Given the description of an element on the screen output the (x, y) to click on. 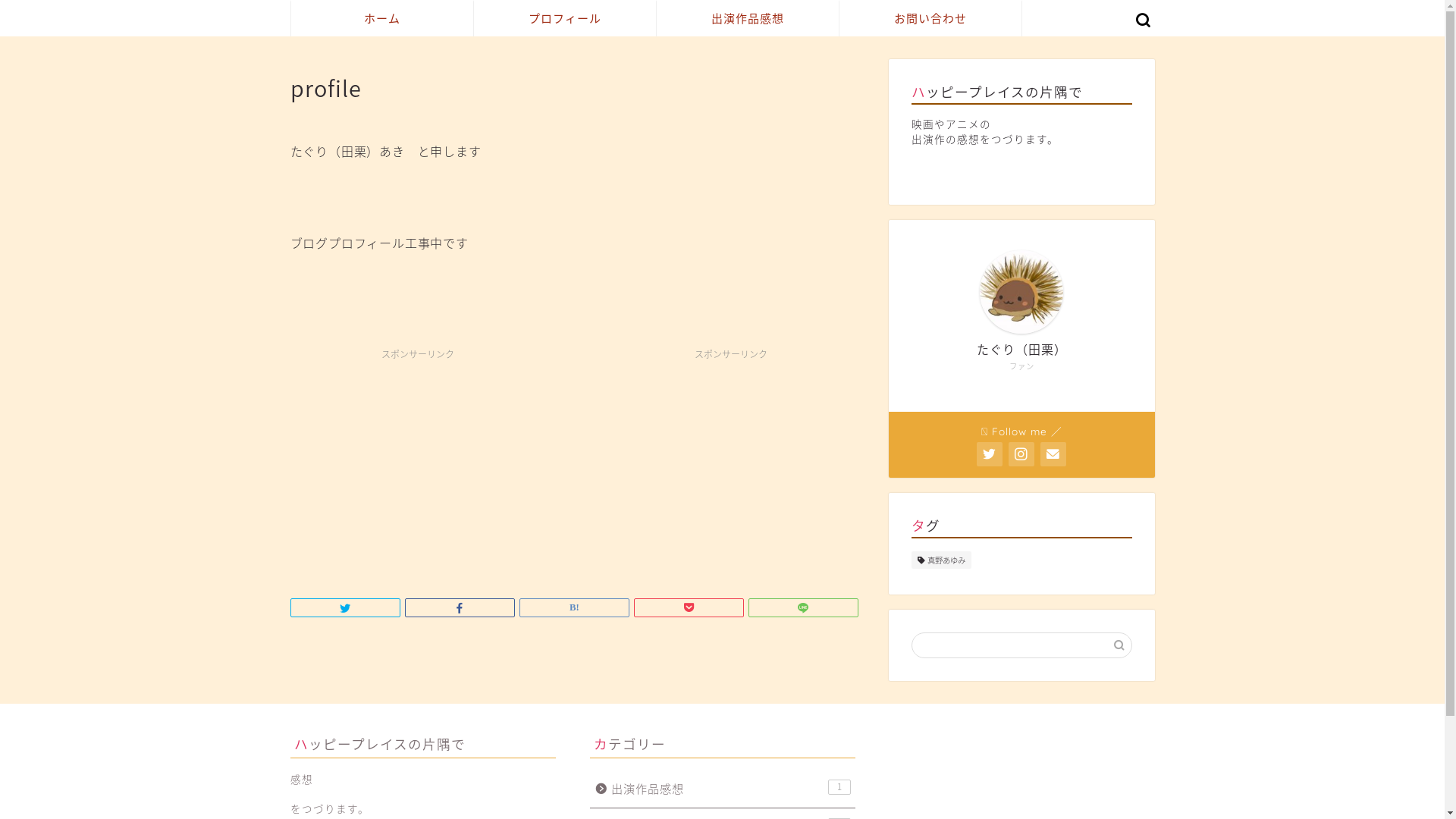
Advertisement Element type: hover (730, 461)
Advertisement Element type: hover (416, 461)
